Given the description of an element on the screen output the (x, y) to click on. 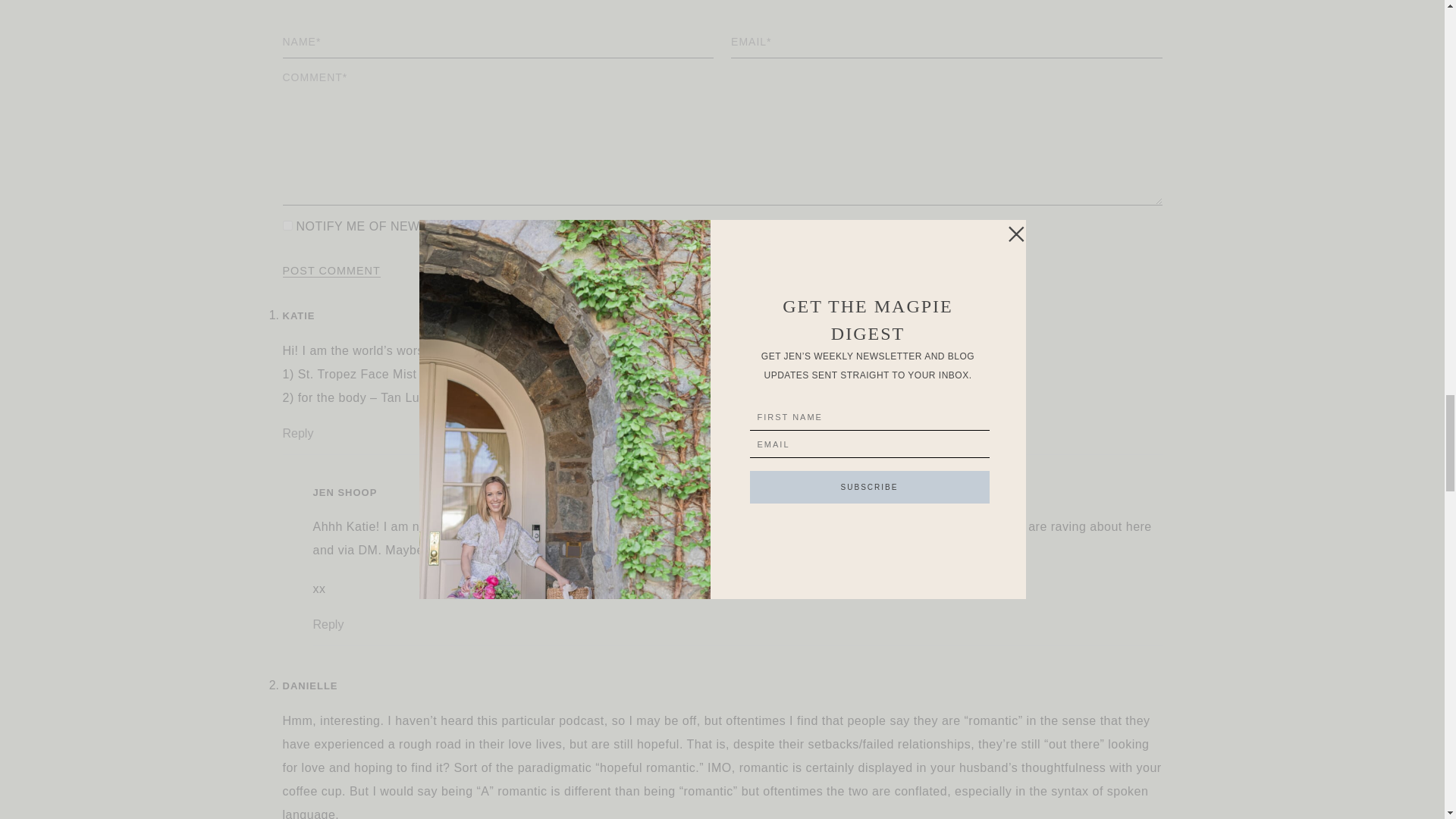
Post Comment (331, 270)
subscribe (287, 225)
